Given the description of an element on the screen output the (x, y) to click on. 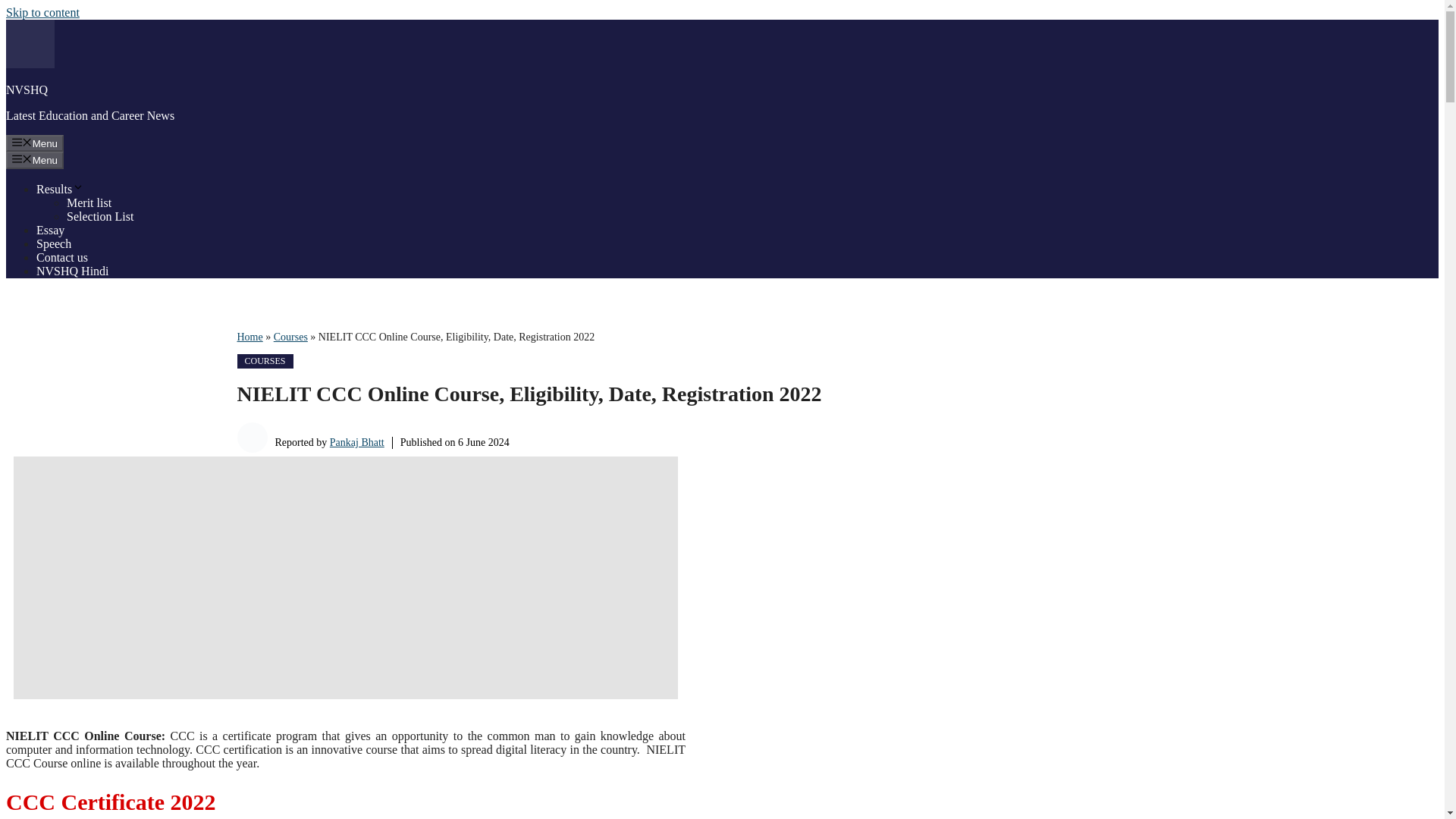
Contact us (61, 256)
NVSHQ (26, 89)
Menu (34, 143)
NVSHQ Hindi (72, 270)
Skip to content (42, 11)
Results (60, 188)
Skip to content (42, 11)
Courses (290, 337)
NVSHQ Hindi (72, 270)
English Speech Topics (53, 243)
